Given the description of an element on the screen output the (x, y) to click on. 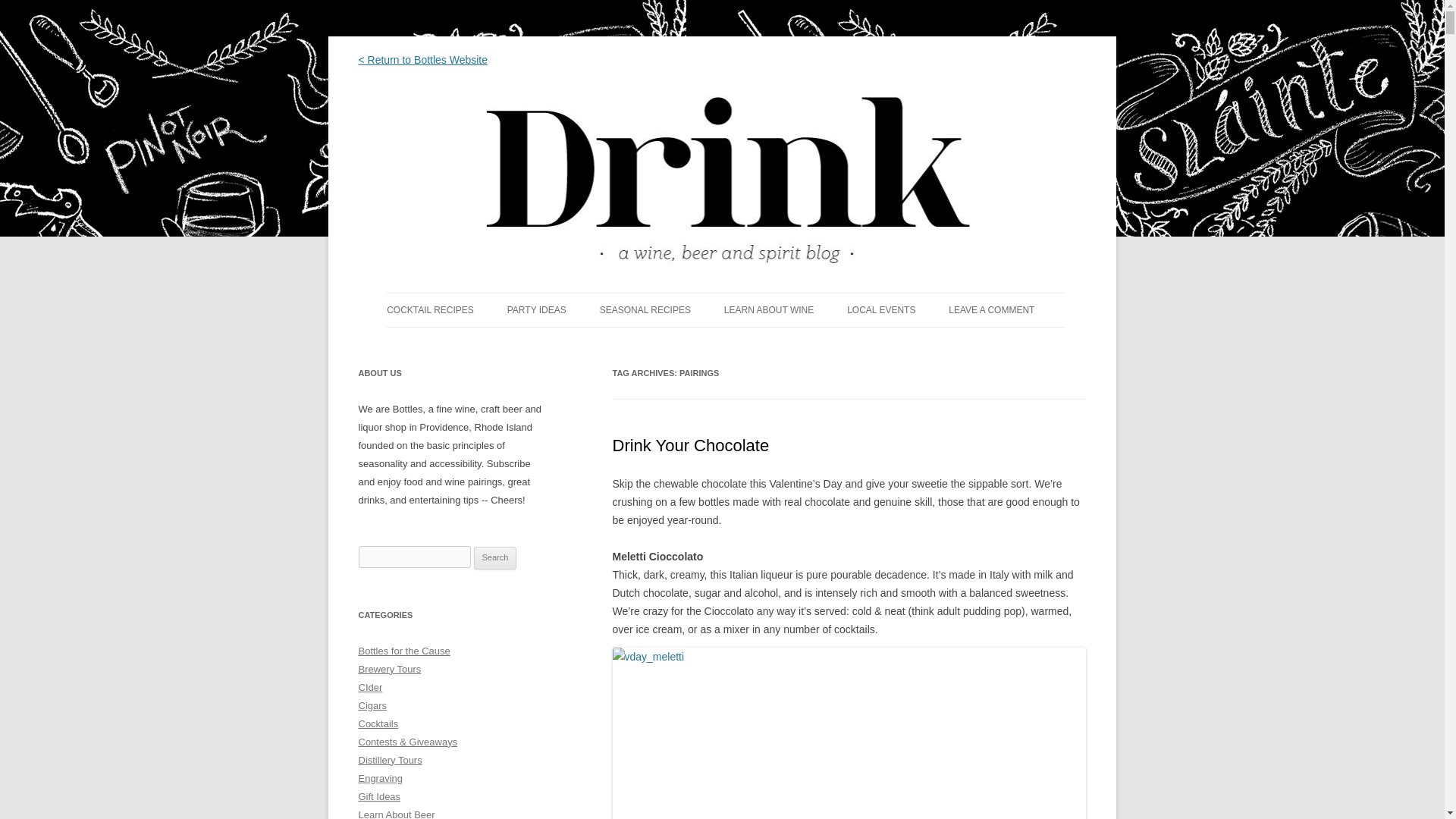
LOCAL EVENTS (881, 309)
Drink Your Chocolate (691, 445)
PARTY IDEAS (536, 309)
COCKTAIL RECIPES (430, 309)
SEASONAL RECIPES (644, 309)
LEAVE A COMMENT (991, 309)
LEARN ABOUT WINE (768, 309)
Search (495, 558)
